Given the description of an element on the screen output the (x, y) to click on. 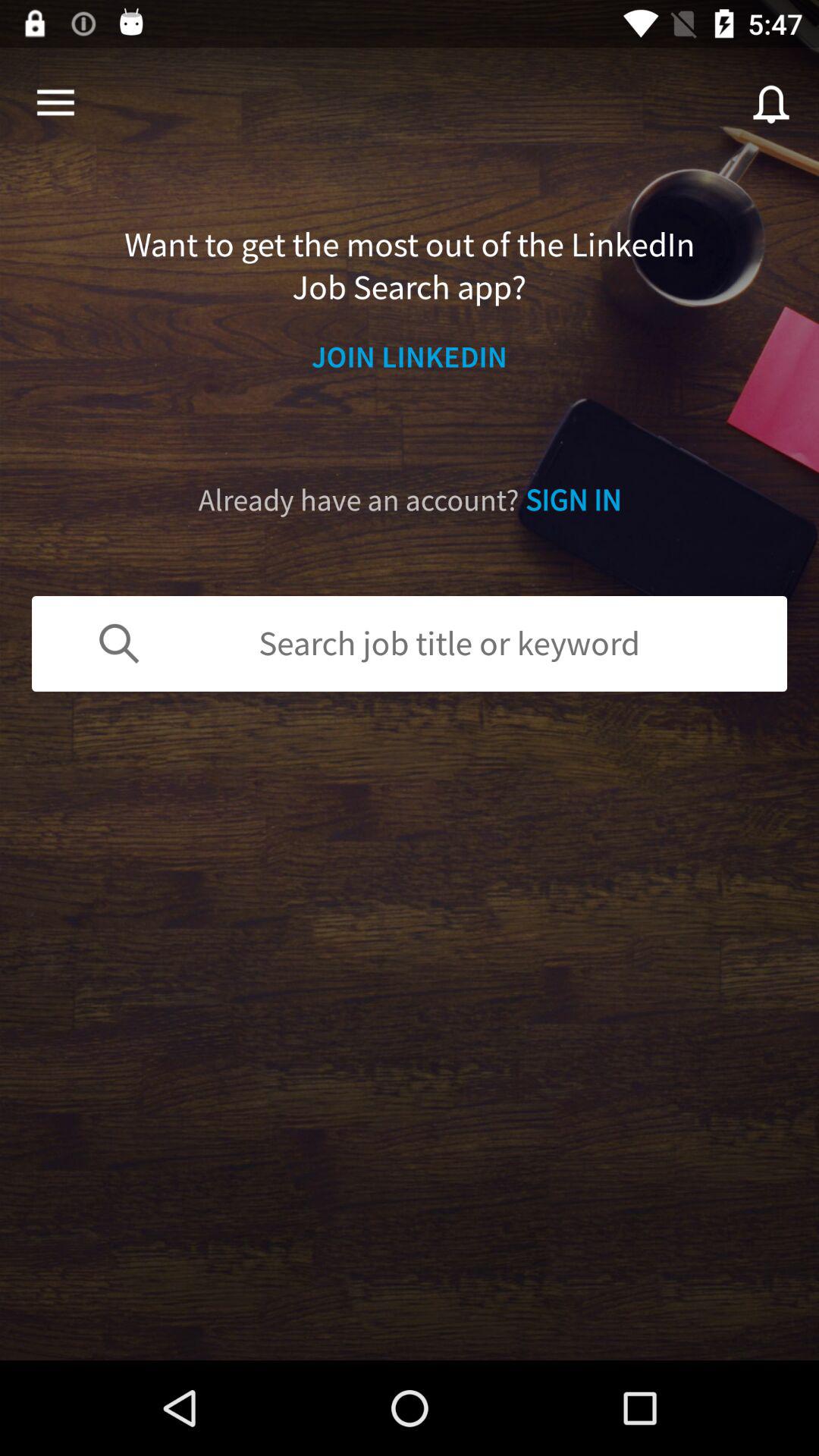
click item next to search icon (55, 103)
